Given the description of an element on the screen output the (x, y) to click on. 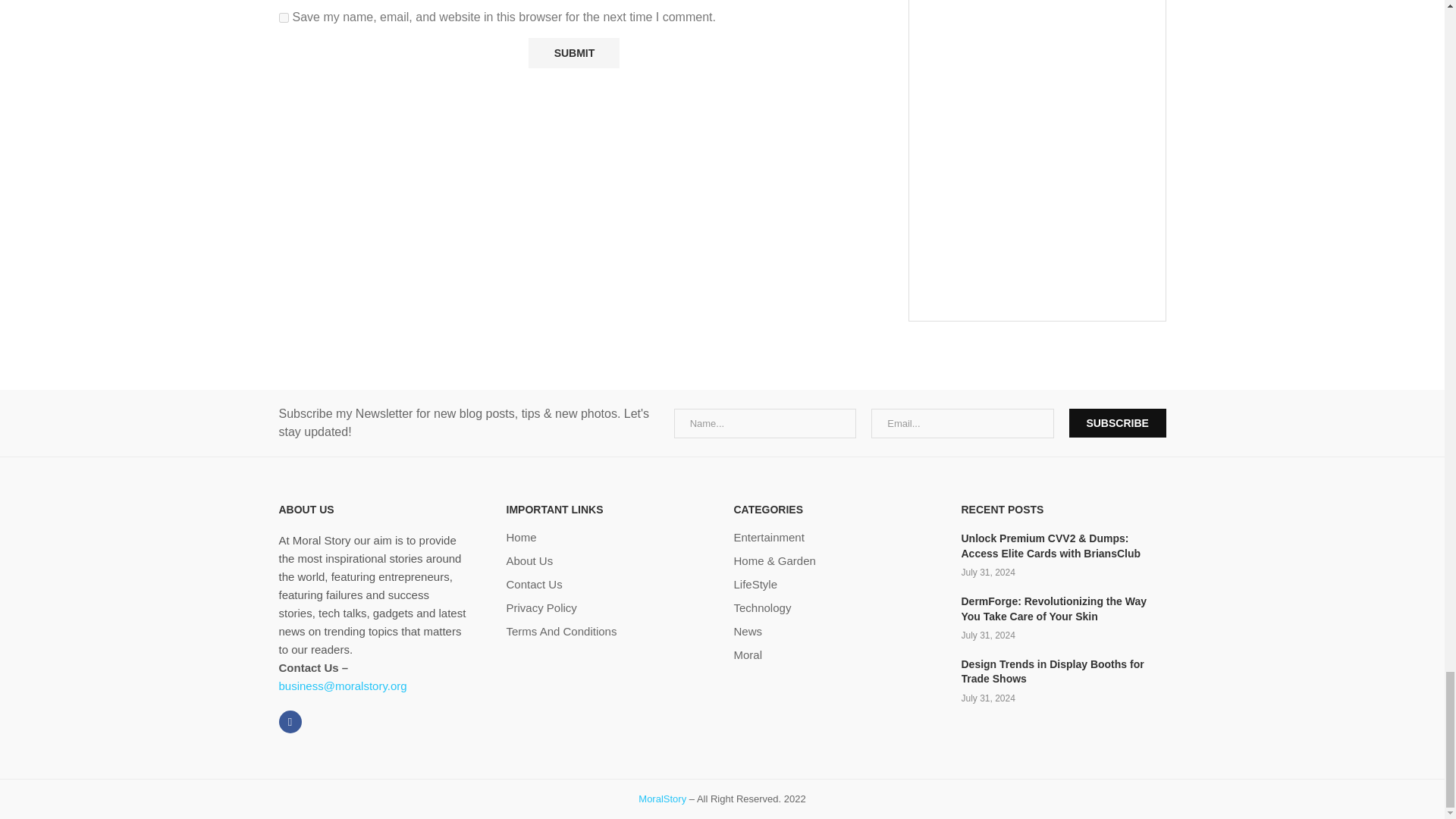
Submit (574, 52)
Subscribe (1117, 422)
yes (283, 17)
